Given the description of an element on the screen output the (x, y) to click on. 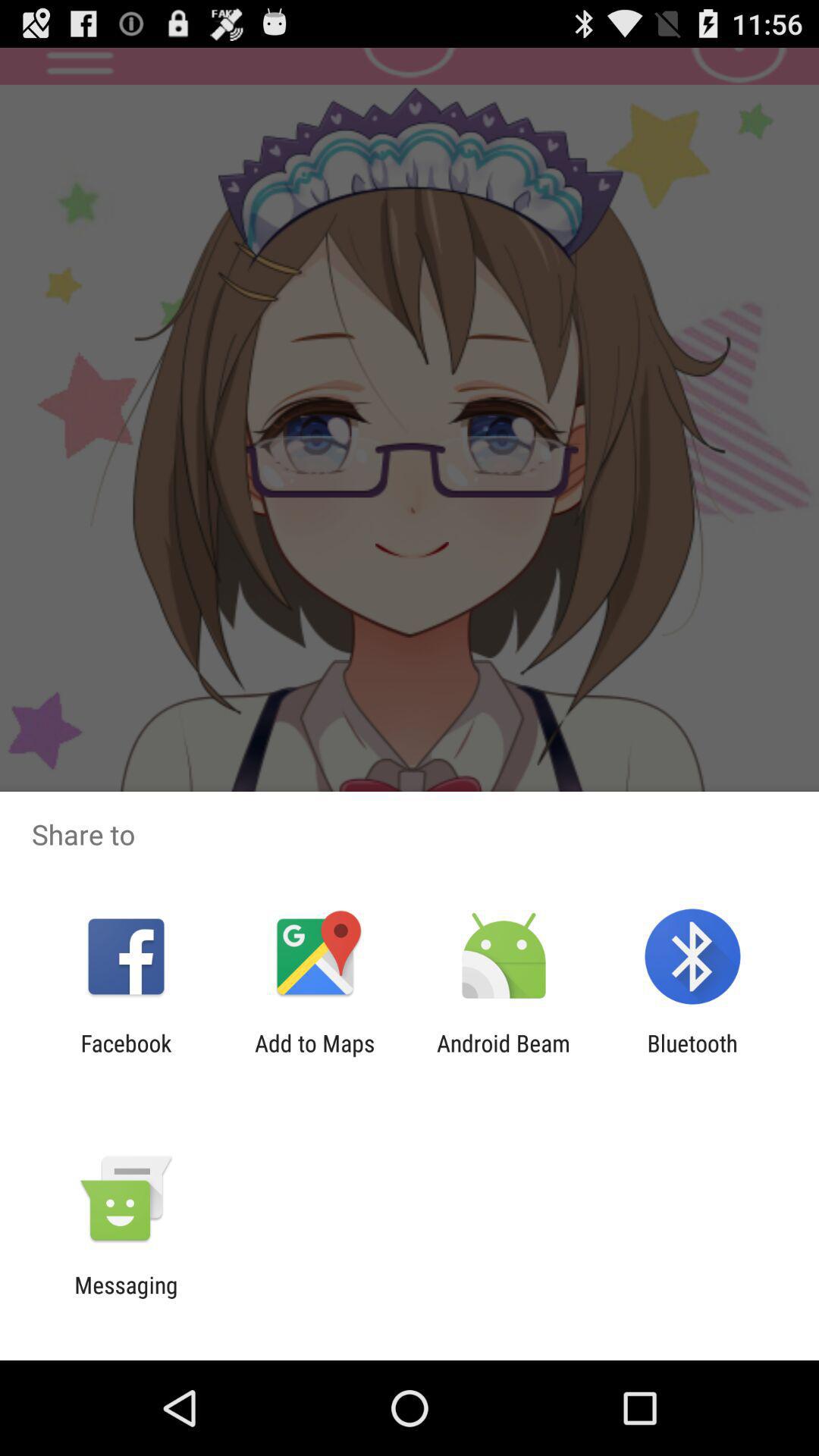
press the app to the left of android beam app (314, 1056)
